Given the description of an element on the screen output the (x, y) to click on. 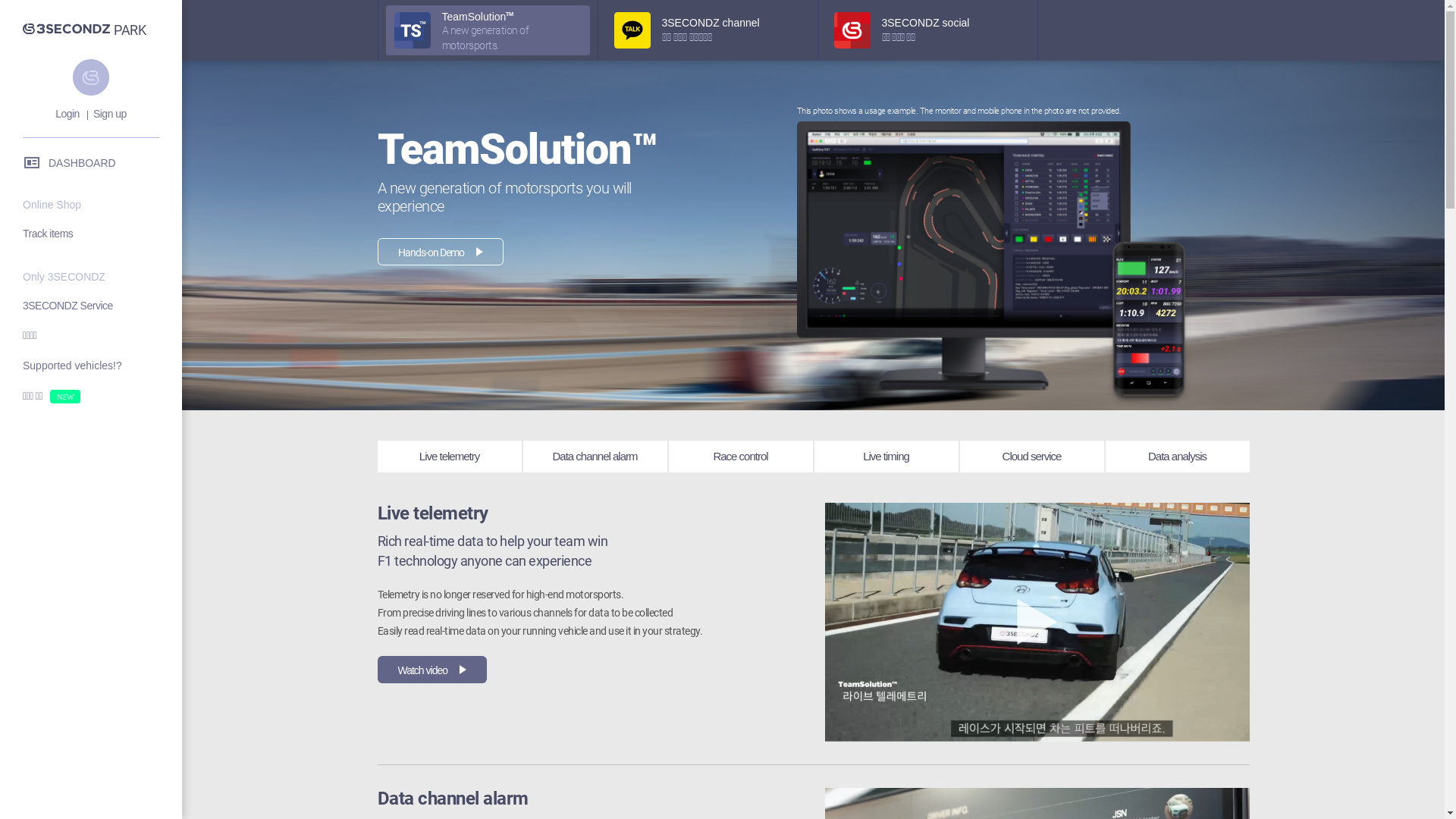
Cloud service Element type: text (1032, 456)
Race control Element type: text (740, 456)
3SECONDZ Service Element type: text (98, 304)
TeamSolutionTM
A new generation of motorsports. Element type: text (487, 30)
Data channel alarm Element type: text (595, 456)
Data analysis Element type: text (1177, 456)
DASHBOARD Element type: text (90, 162)
Live telemetry Element type: text (449, 456)
Live timing Element type: text (886, 456)
Track items Element type: text (98, 232)
Hands-on Demo Element type: text (440, 251)
Watch video Element type: text (432, 669)
Supported vehicles!? Element type: text (98, 365)
PARK Element type: text (129, 29)
Sign up Element type: text (109, 114)
Login Element type: text (67, 114)
